Given the description of an element on the screen output the (x, y) to click on. 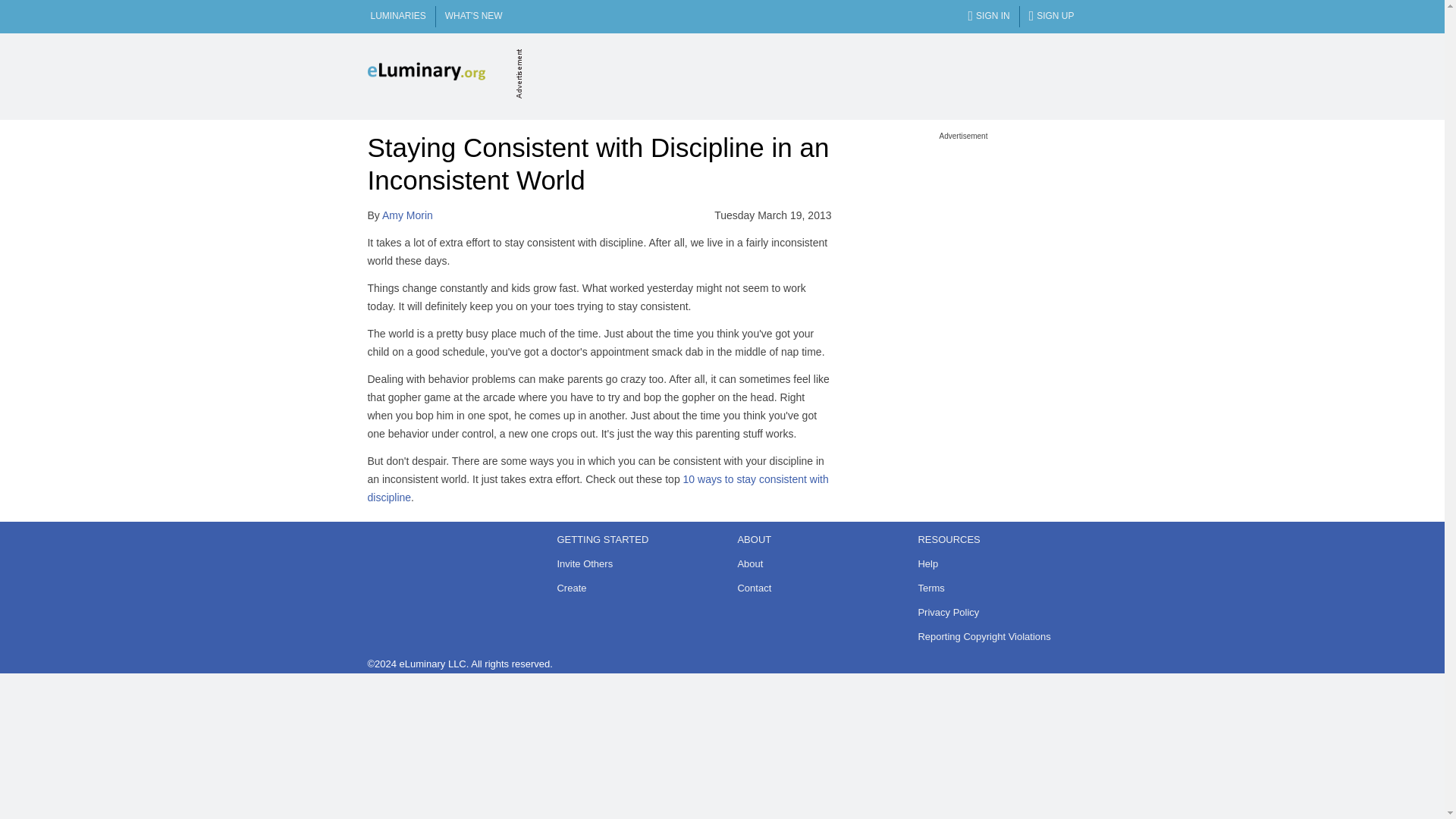
About (811, 564)
LUMINARIES (397, 16)
WHAT'S NEW (473, 16)
SIGN IN (988, 16)
Reporting Copyright Violations (992, 637)
Privacy Policy (992, 612)
Sign Up (1051, 16)
Advertisement (962, 235)
10 ways to stay consistent with discipline (597, 488)
SIGN UP (1051, 16)
